Given the description of an element on the screen output the (x, y) to click on. 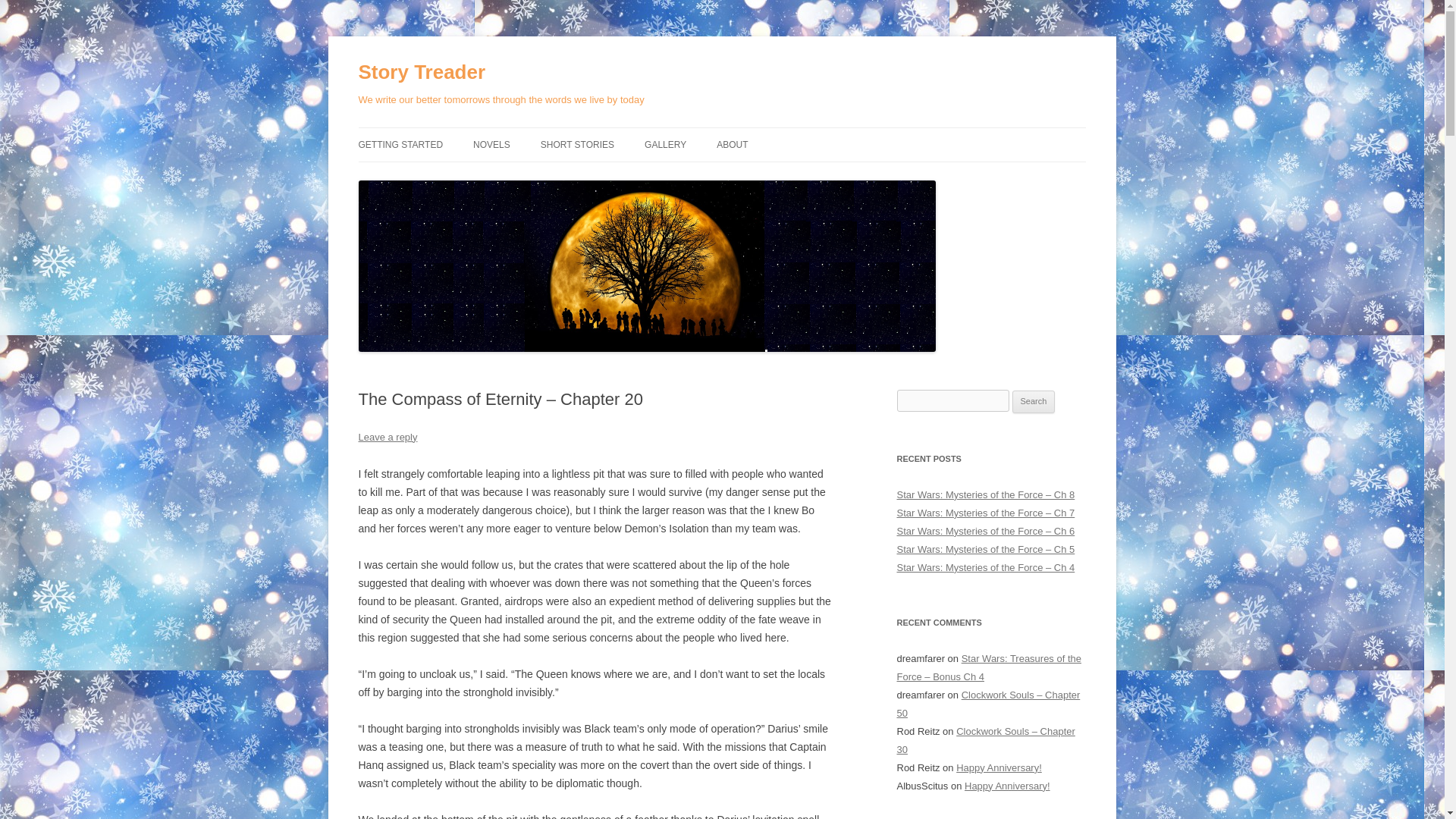
GETTING STARTED (400, 144)
Search (1033, 401)
SHORT STORIES (577, 144)
NOVELS (492, 144)
Story Treader (421, 72)
SW: CHRONICLES OF THE FORCE (548, 185)
